Given the description of an element on the screen output the (x, y) to click on. 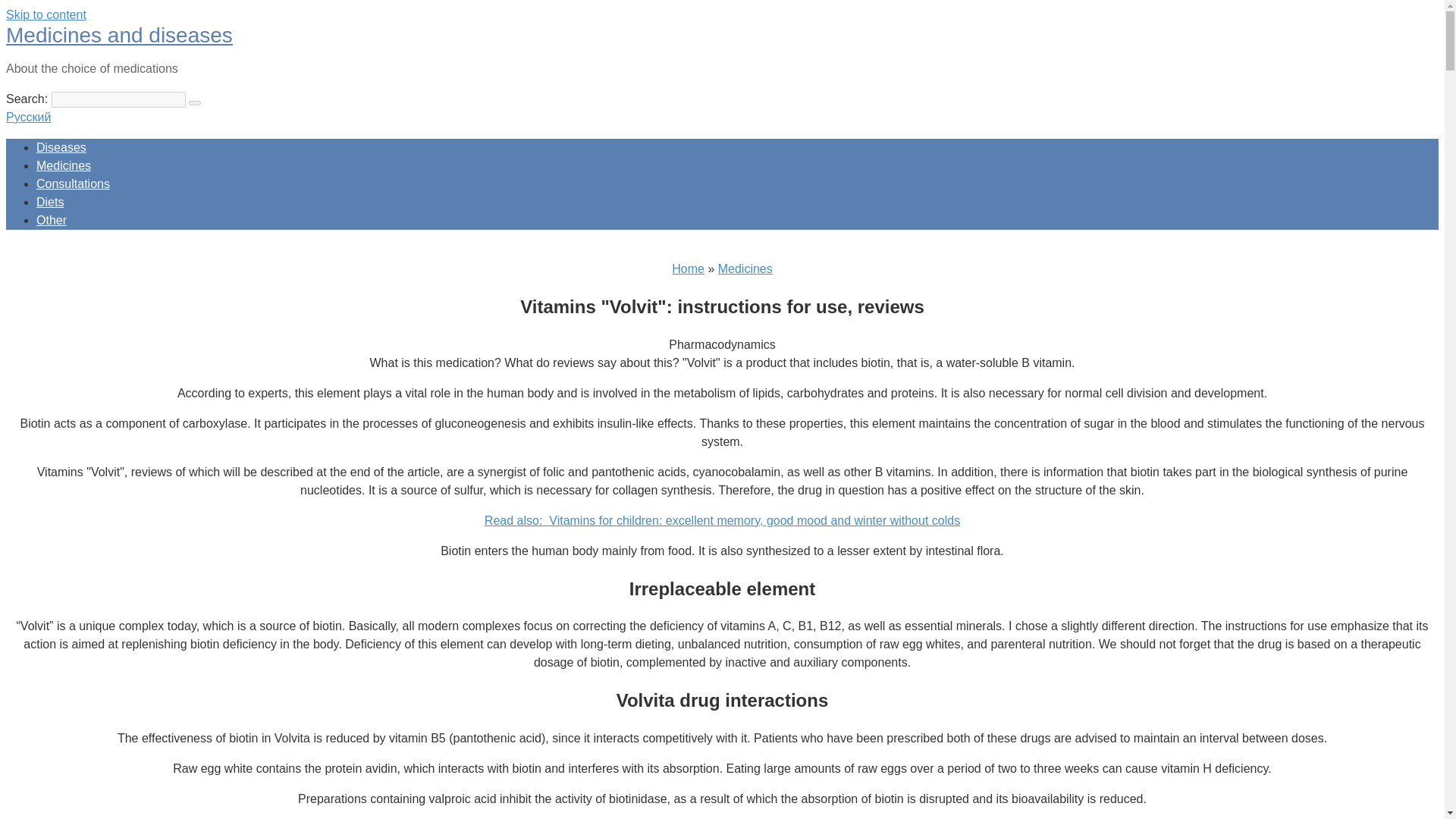
Medicines (745, 268)
Skip to content (45, 14)
Other (51, 219)
Diseases (60, 146)
Consultations (73, 183)
Medicines and diseases (118, 34)
Medicines (63, 164)
Diets (50, 201)
Home (687, 268)
